Given the description of an element on the screen output the (x, y) to click on. 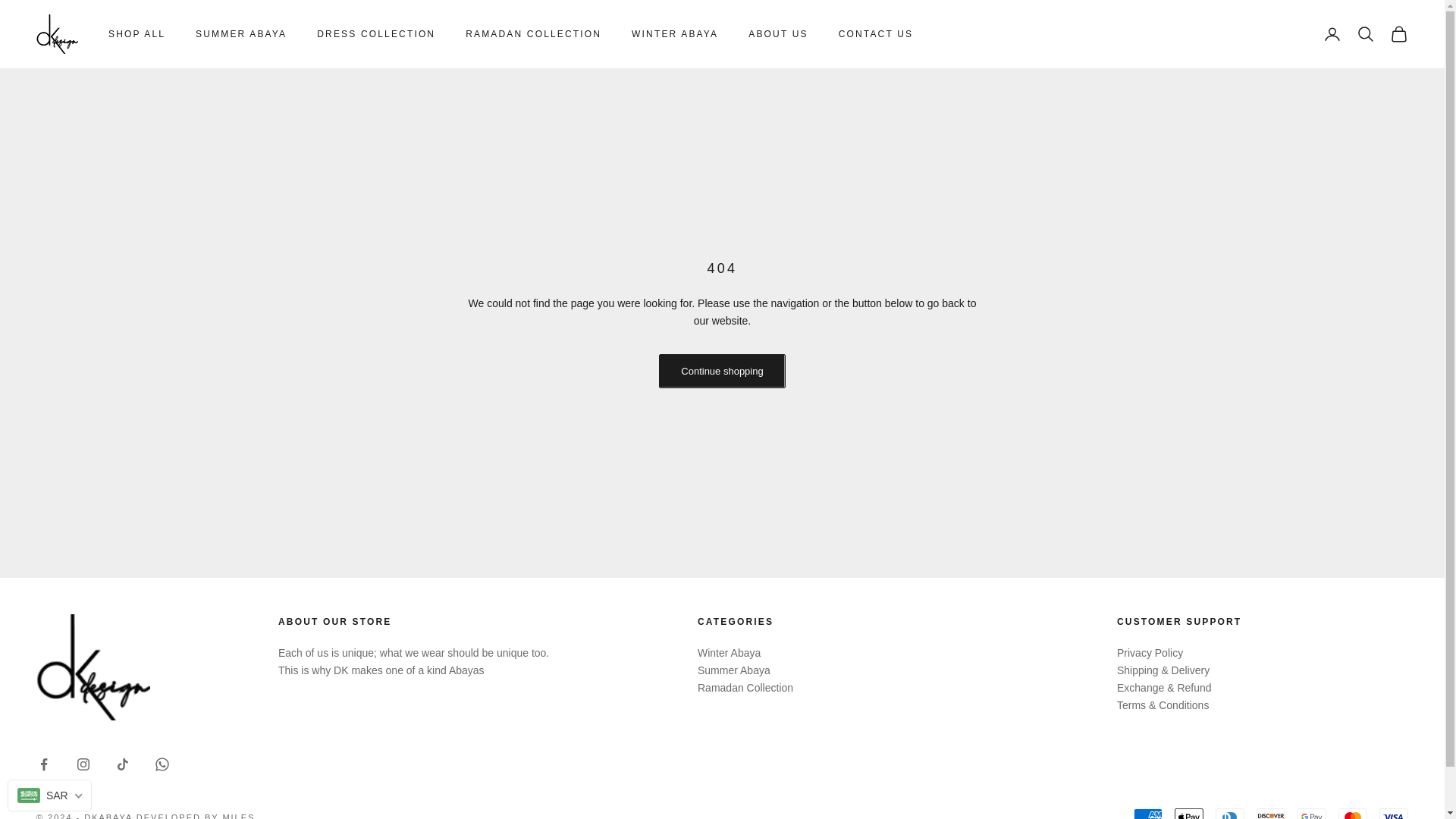
Privacy Policy (1149, 653)
RAMADAN COLLECTION (533, 33)
Winter Abaya (728, 653)
DKABAYA (57, 34)
Ramadan Collection (745, 687)
Continue shopping (721, 370)
WINTER ABAYA (674, 33)
DRESS COLLECTION (376, 33)
Ramadan Collection (745, 687)
Privacy Policy (1149, 653)
